Given the description of an element on the screen output the (x, y) to click on. 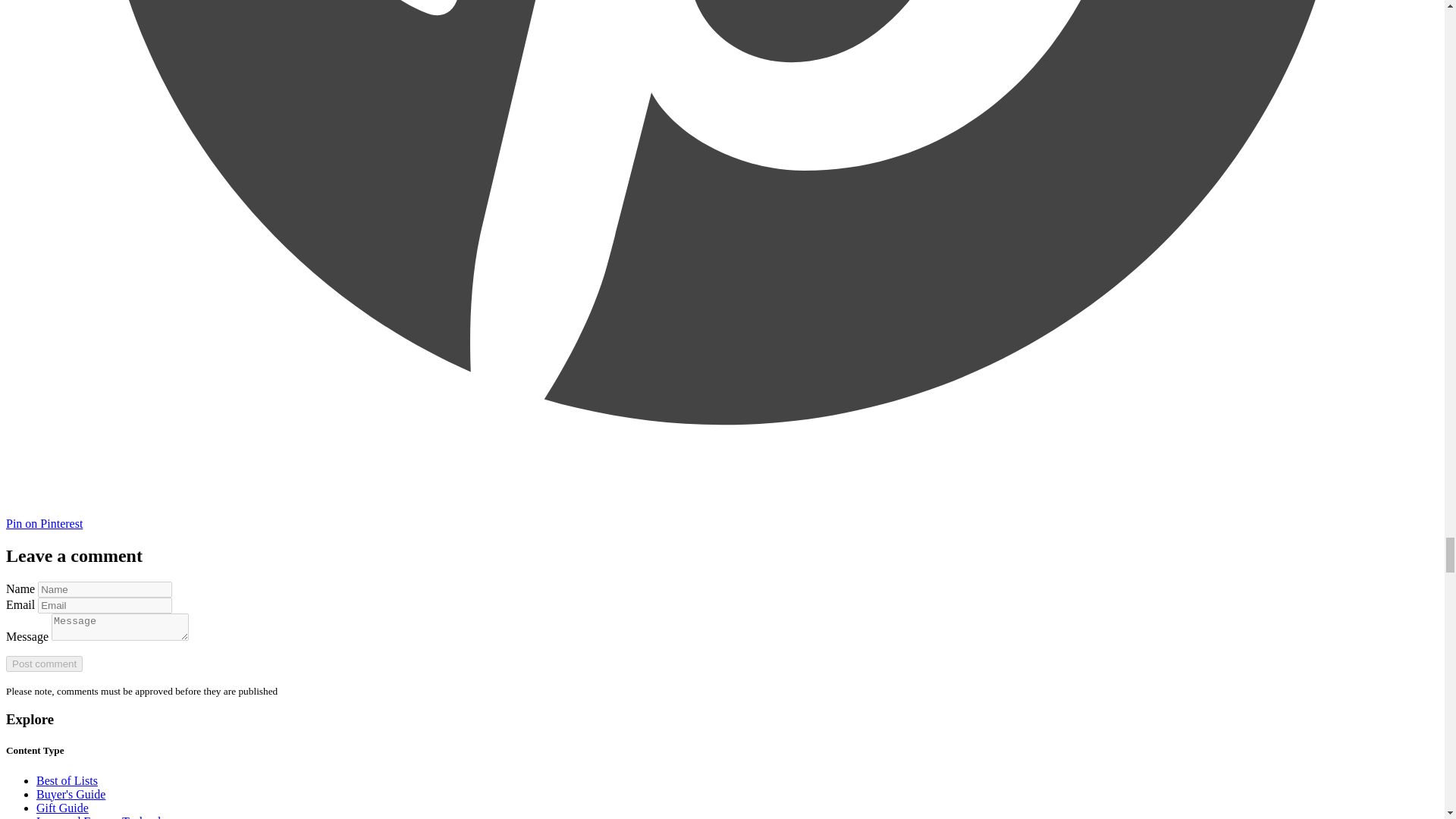
Show articles tagged Content Type: Gift Guide (62, 807)
Post comment (43, 663)
Show articles tagged Content Type: Best of Lists (66, 780)
Show articles tagged Content Type: Buyer's Guide (70, 793)
